Given the description of an element on the screen output the (x, y) to click on. 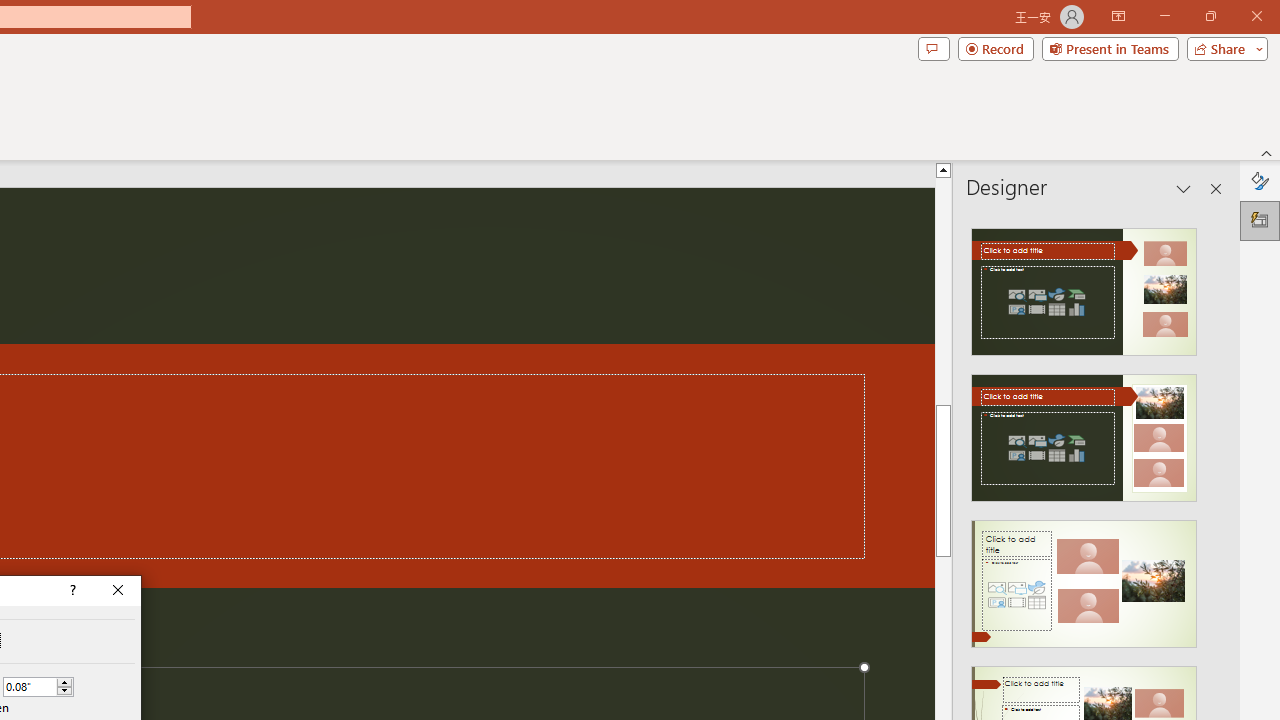
Less (64, 691)
Design Idea (1083, 577)
Context help (71, 591)
Custom Spacing (38, 686)
Format Background (1260, 180)
More (64, 682)
